Given the description of an element on the screen output the (x, y) to click on. 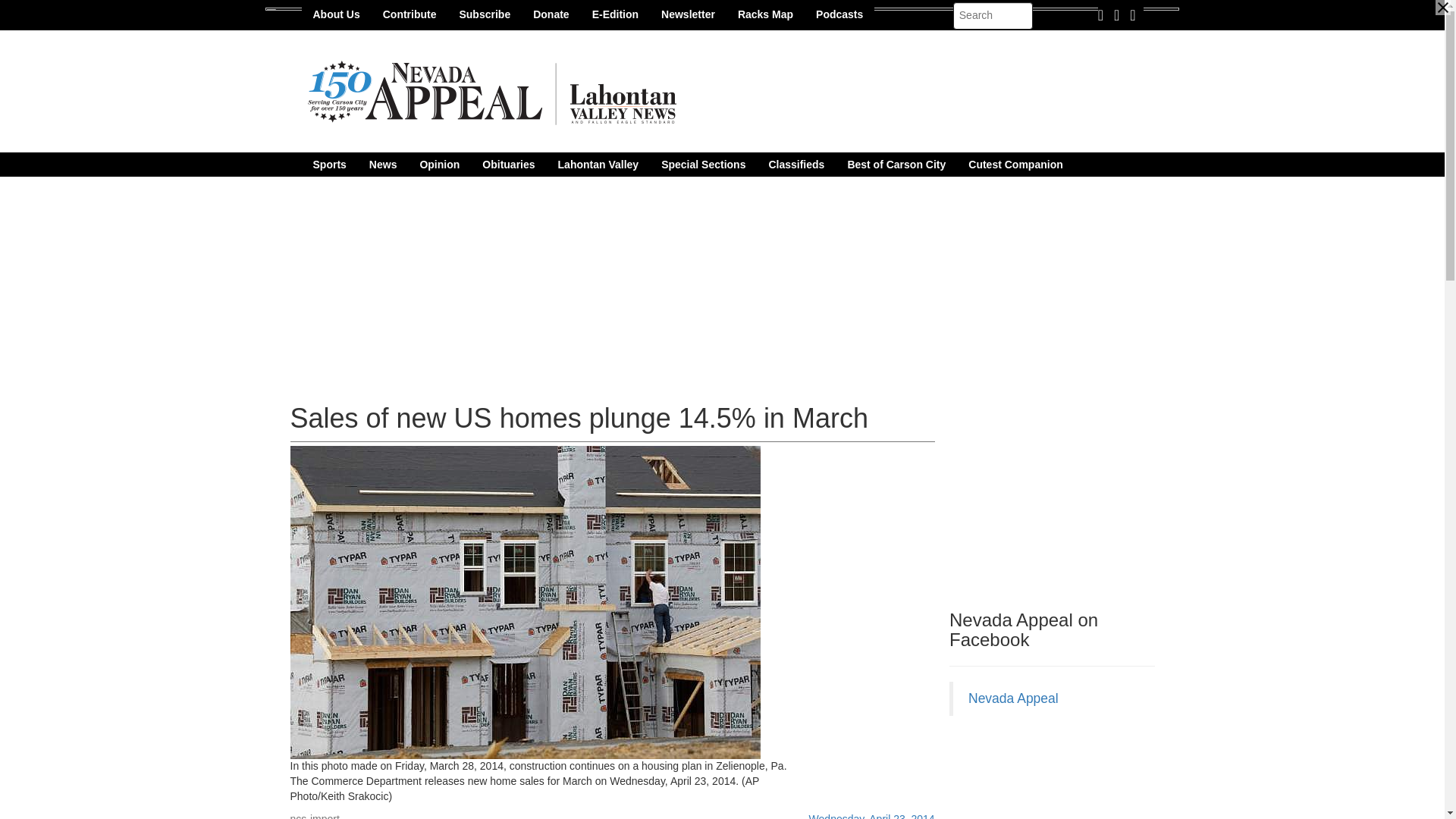
Donate (550, 14)
Lahontan Valley (598, 164)
Classifieds (796, 164)
Contribute (409, 14)
E-Edition (614, 14)
Podcasts (840, 14)
Racks Map (765, 14)
About Us (336, 14)
Obituaries (508, 164)
